Given the description of an element on the screen output the (x, y) to click on. 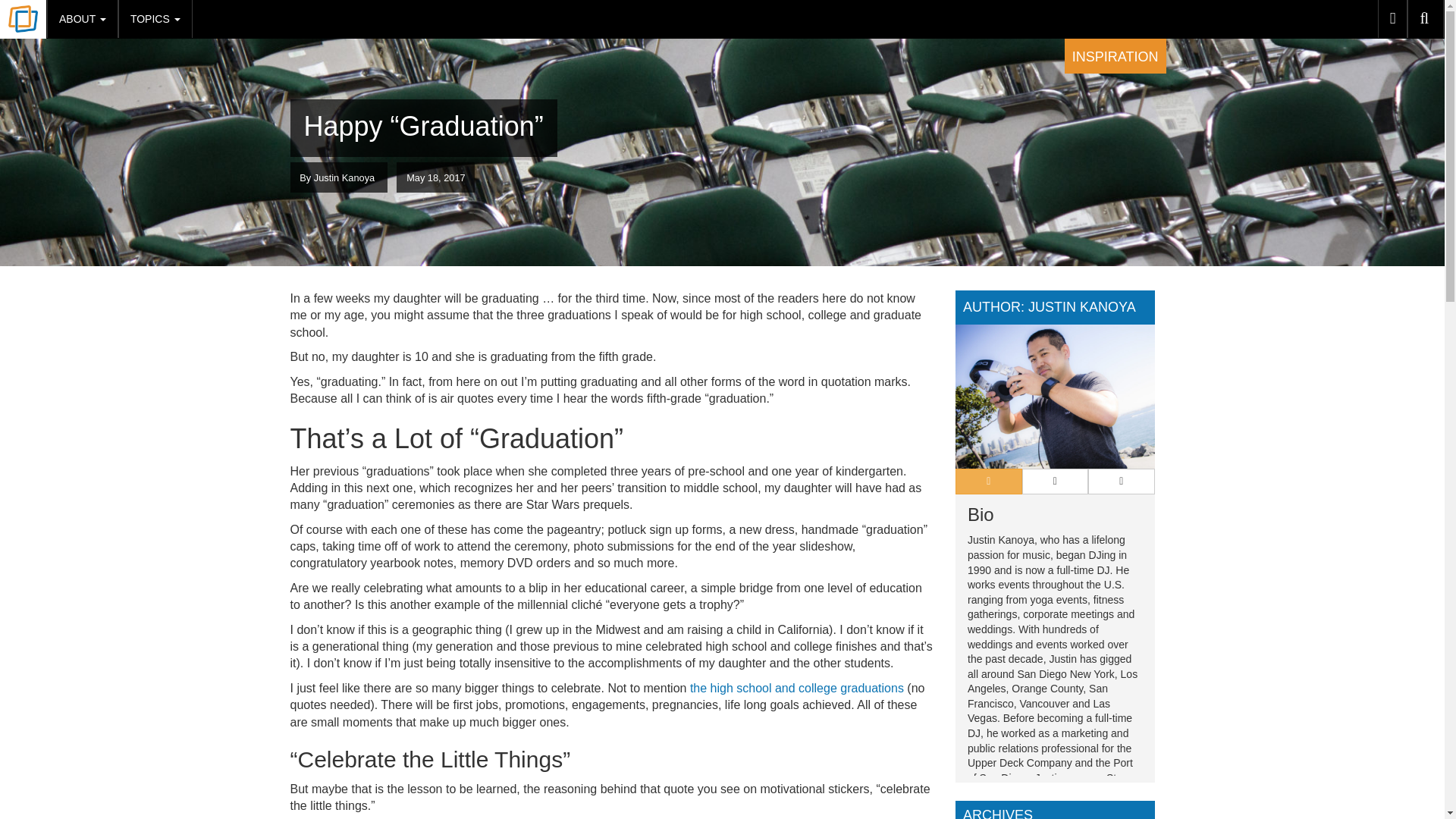
INSPIRATION (1114, 56)
About (81, 18)
TOPICS (154, 18)
ABOUT (81, 18)
 SEARCH (1425, 18)
the high school and college graduations (797, 687)
Search (1425, 18)
Thin Difference (23, 19)
Topics (154, 18)
